Given the description of an element on the screen output the (x, y) to click on. 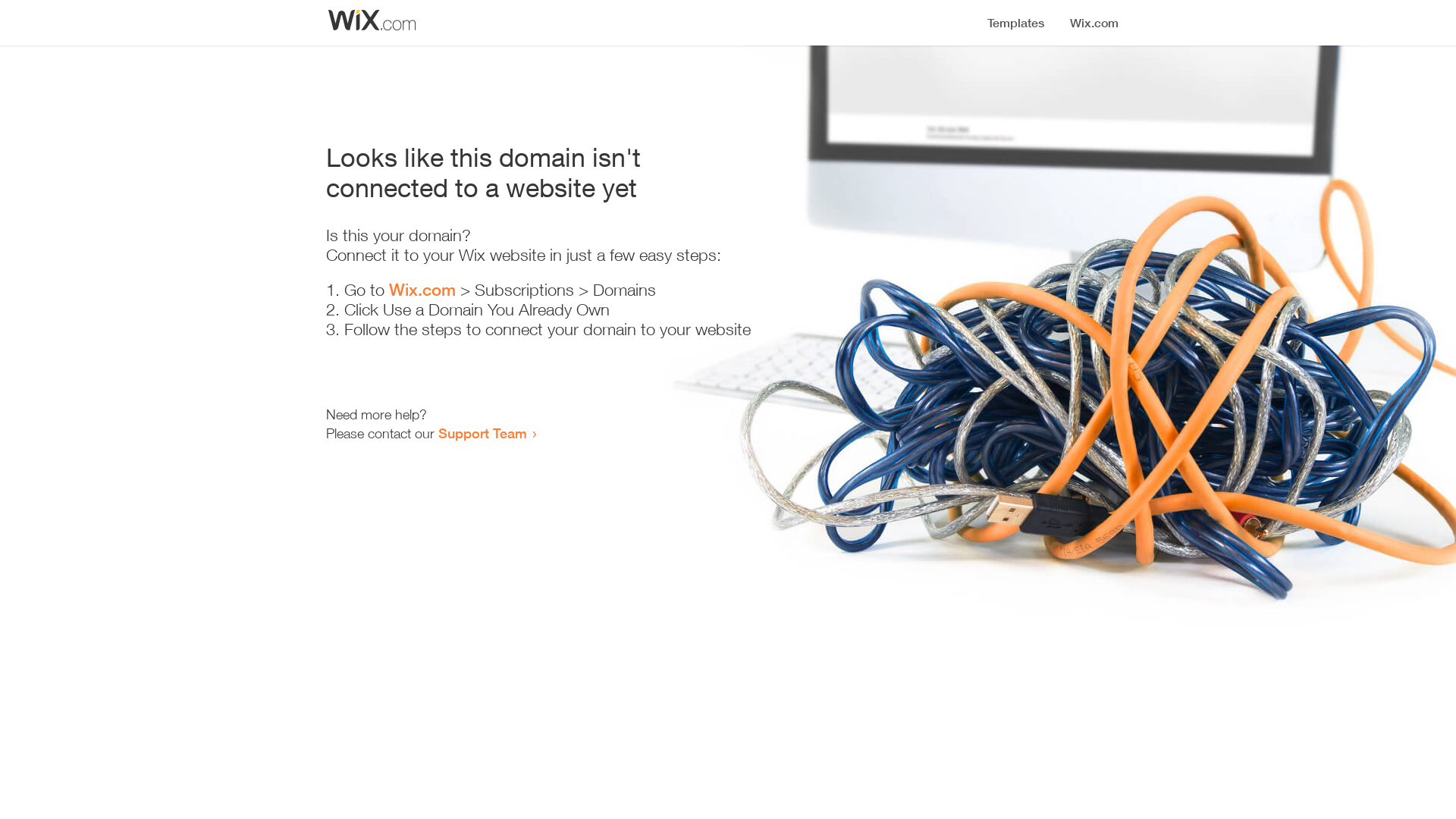
Wix.com Element type: text (422, 289)
Support Team Element type: text (482, 432)
